Given the description of an element on the screen output the (x, y) to click on. 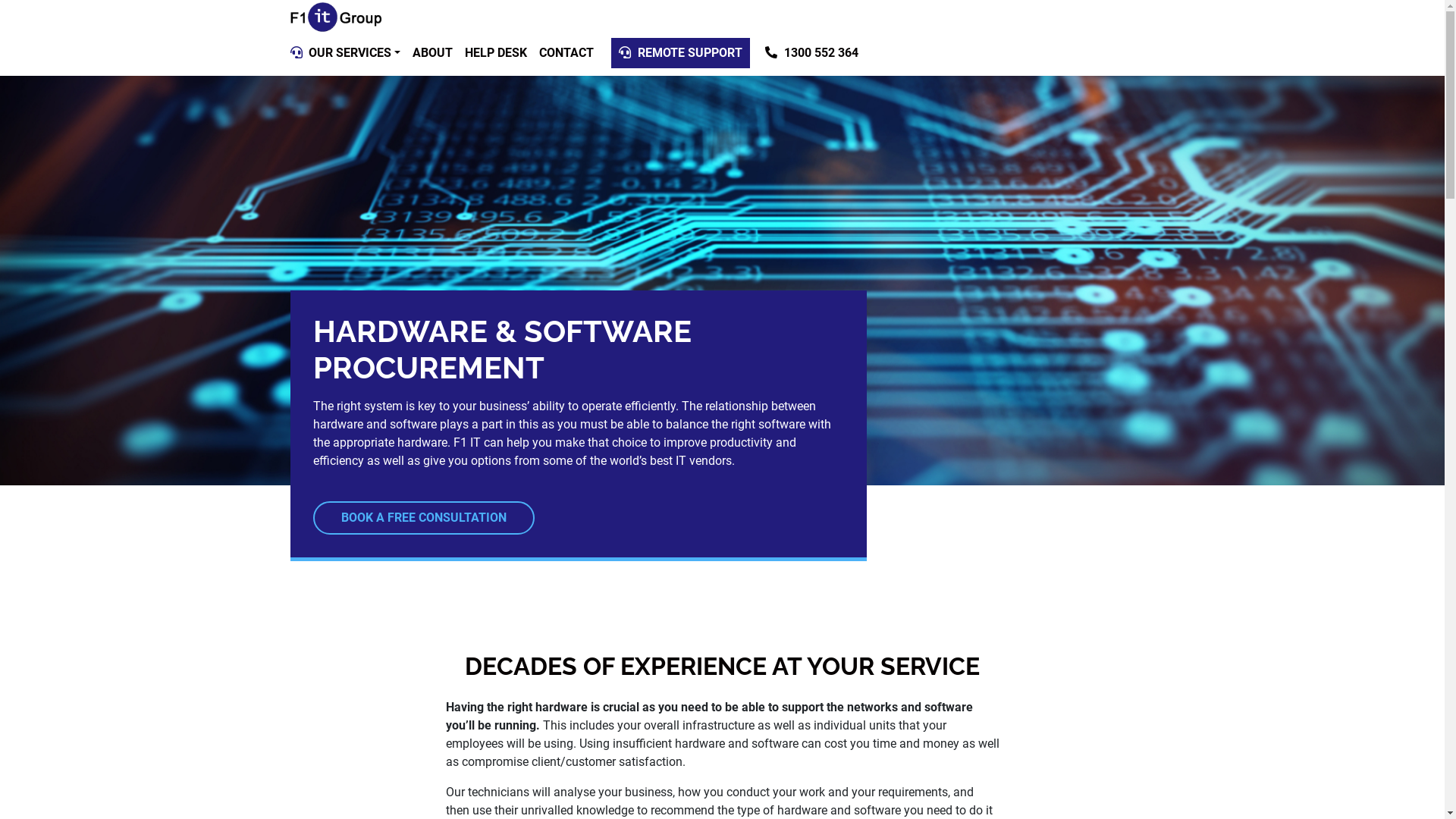
F1 IT Group Element type: hover (334, 17)
ABOUT Element type: text (432, 52)
HELP DESK Element type: text (495, 52)
REMOTE SUPPORT Element type: text (680, 52)
CONTACT Element type: text (566, 52)
BOOK A FREE CONSULTATION Element type: text (422, 517)
1300 552 364 Element type: text (811, 52)
OUR SERVICES Element type: text (353, 52)
